Given the description of an element on the screen output the (x, y) to click on. 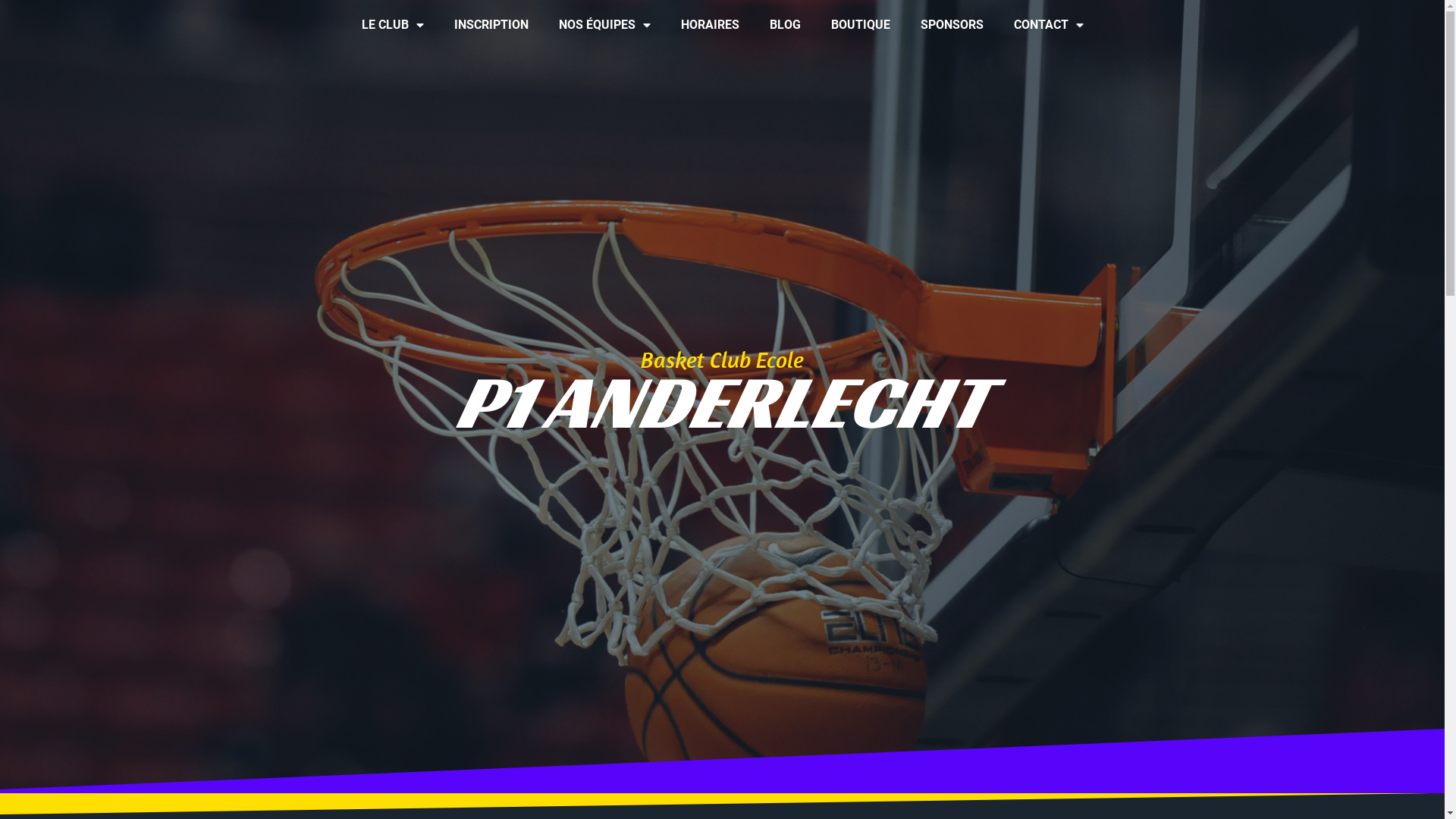
INSCRIPTION Element type: text (490, 24)
BOUTIQUE Element type: text (860, 24)
BLOG Element type: text (784, 24)
CONTACT Element type: text (1047, 24)
LE CLUB Element type: text (391, 24)
HORAIRES Element type: text (709, 24)
SPONSORS Element type: text (951, 24)
